Given the description of an element on the screen output the (x, y) to click on. 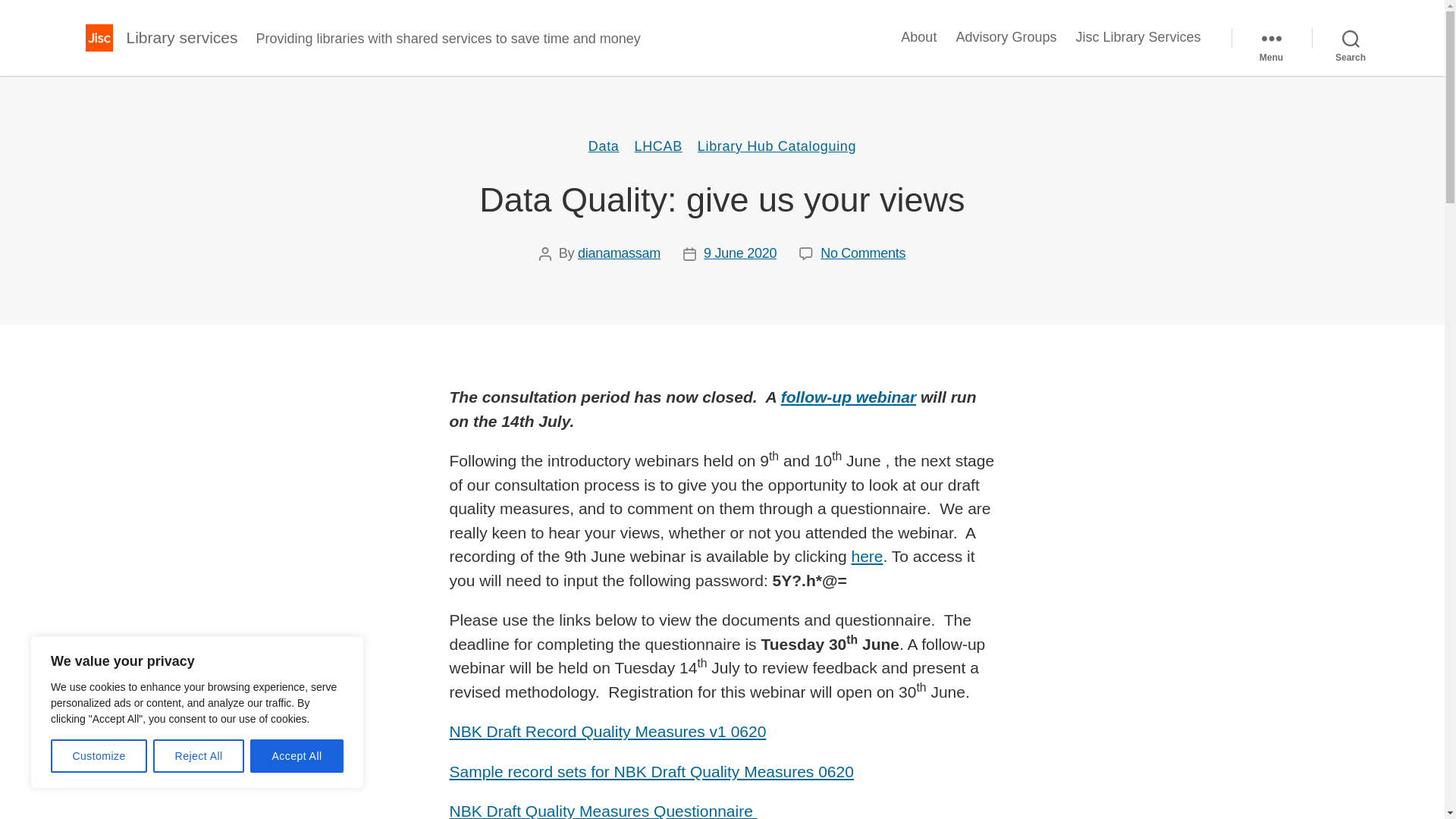
Library services (181, 36)
Jisc Library Services (1137, 37)
Reject All (198, 756)
Accept All (296, 756)
About (918, 37)
Advisory Groups (1006, 37)
Search (1350, 37)
Go to the Jisc homepage (98, 37)
Customize (98, 756)
Menu (1271, 37)
